Given the description of an element on the screen output the (x, y) to click on. 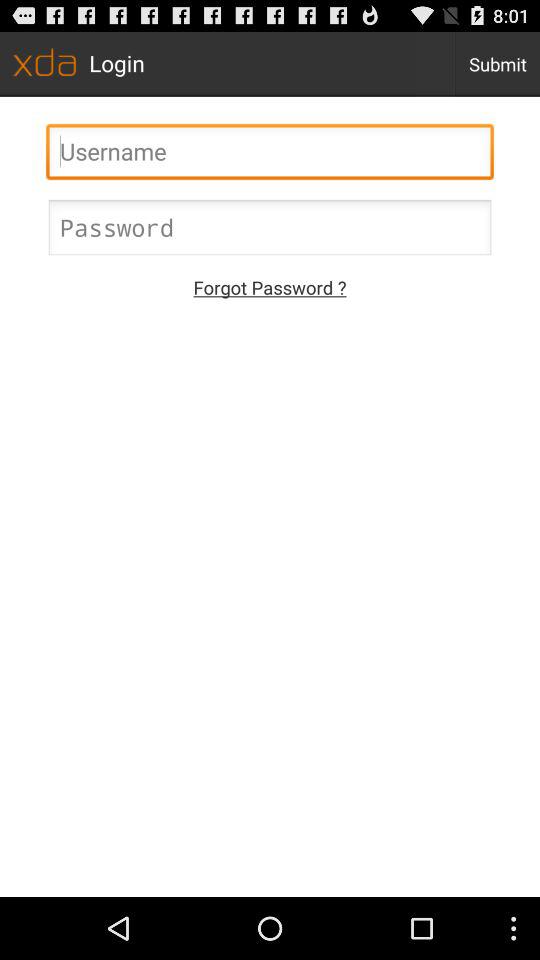
choose app next to the login app (498, 63)
